Given the description of an element on the screen output the (x, y) to click on. 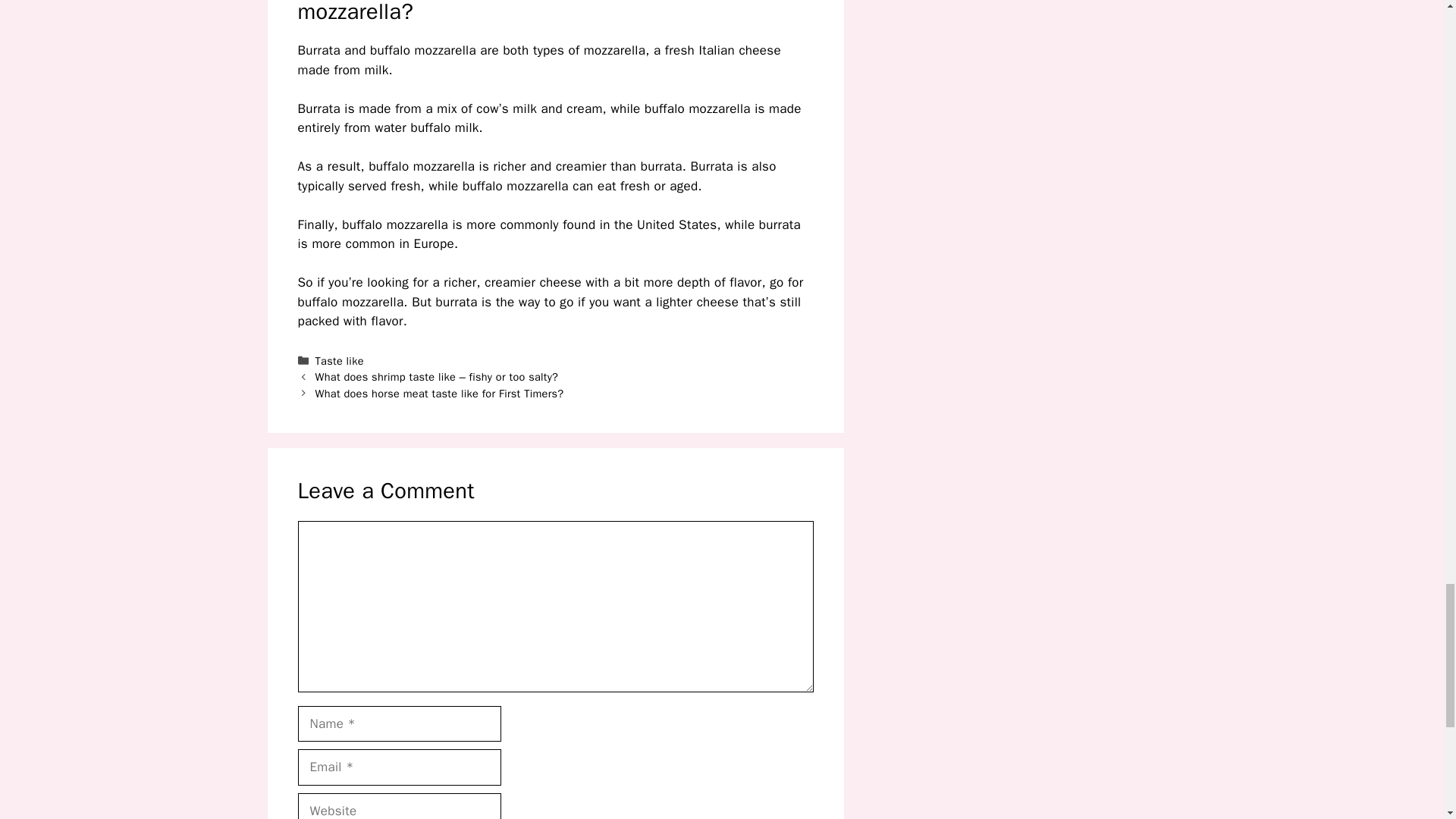
What does horse meat taste like for First Timers? (439, 393)
Taste like (339, 359)
